Given the description of an element on the screen output the (x, y) to click on. 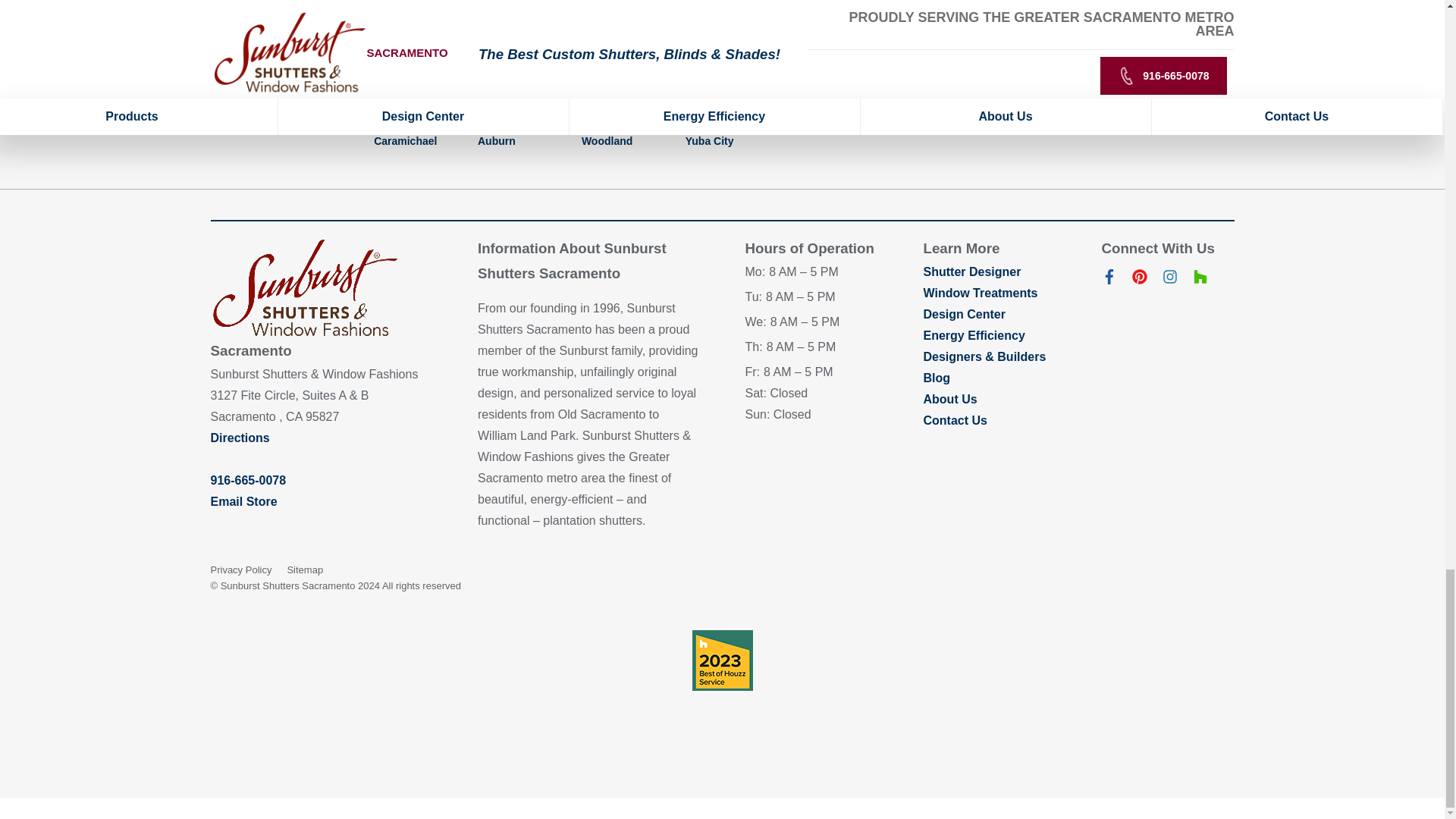
Follow us on Instagram (1168, 279)
Follow us on Pinterest (1139, 279)
Save us on Houzz (1199, 279)
Best Of Houzz 2024 (721, 660)
Like us on Facebook (1108, 279)
